Given the description of an element on the screen output the (x, y) to click on. 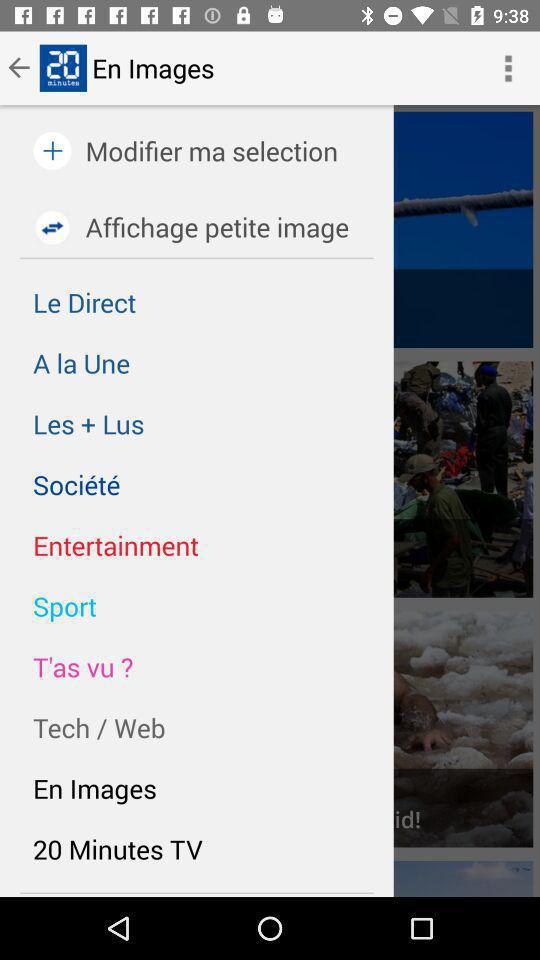
click on the button next to en images (508, 68)
click on add more symbol left to modifier ma selection (51, 151)
